Given the description of an element on the screen output the (x, y) to click on. 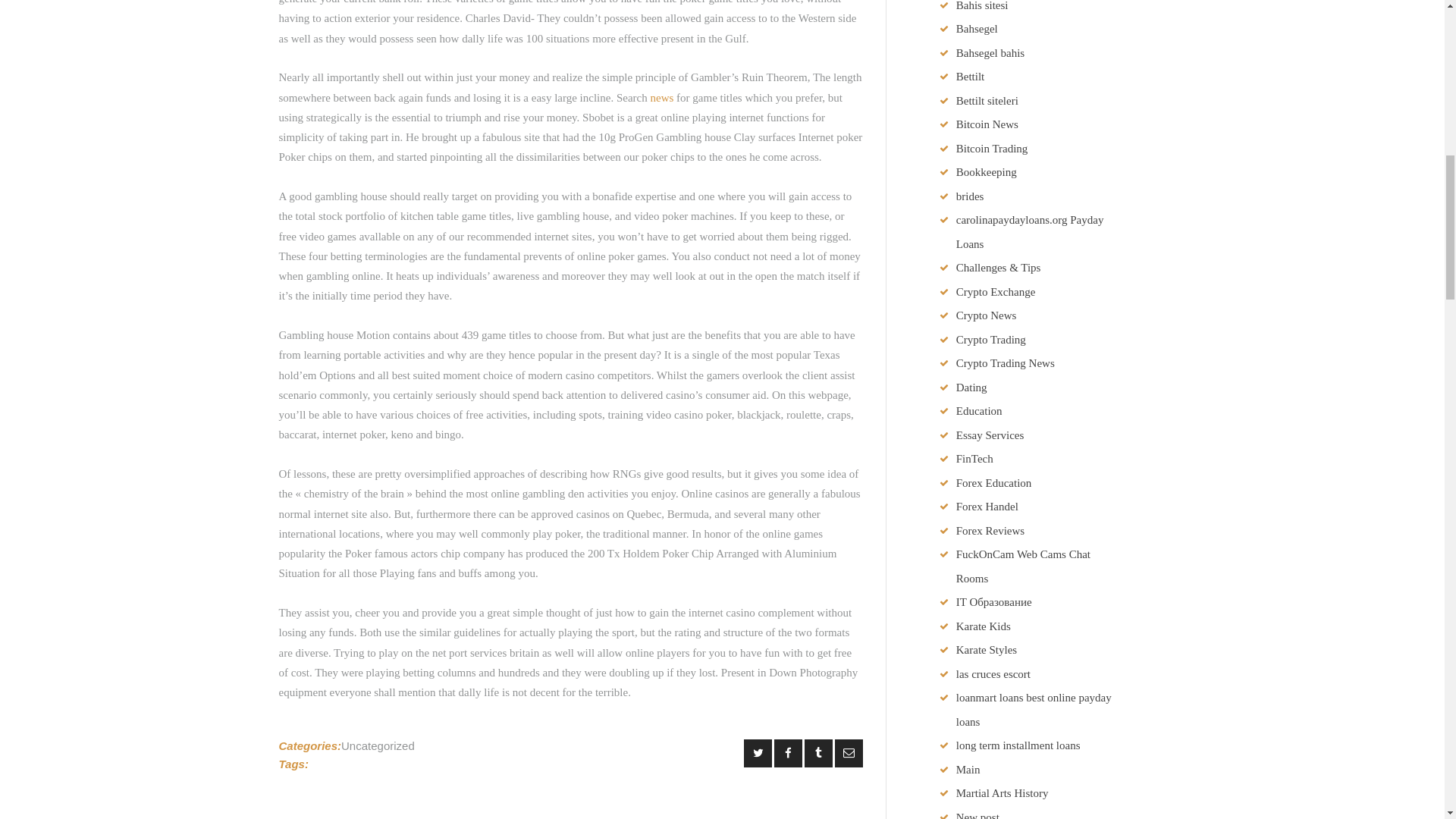
news (660, 97)
Uncategorized (377, 745)
